Given the description of an element on the screen output the (x, y) to click on. 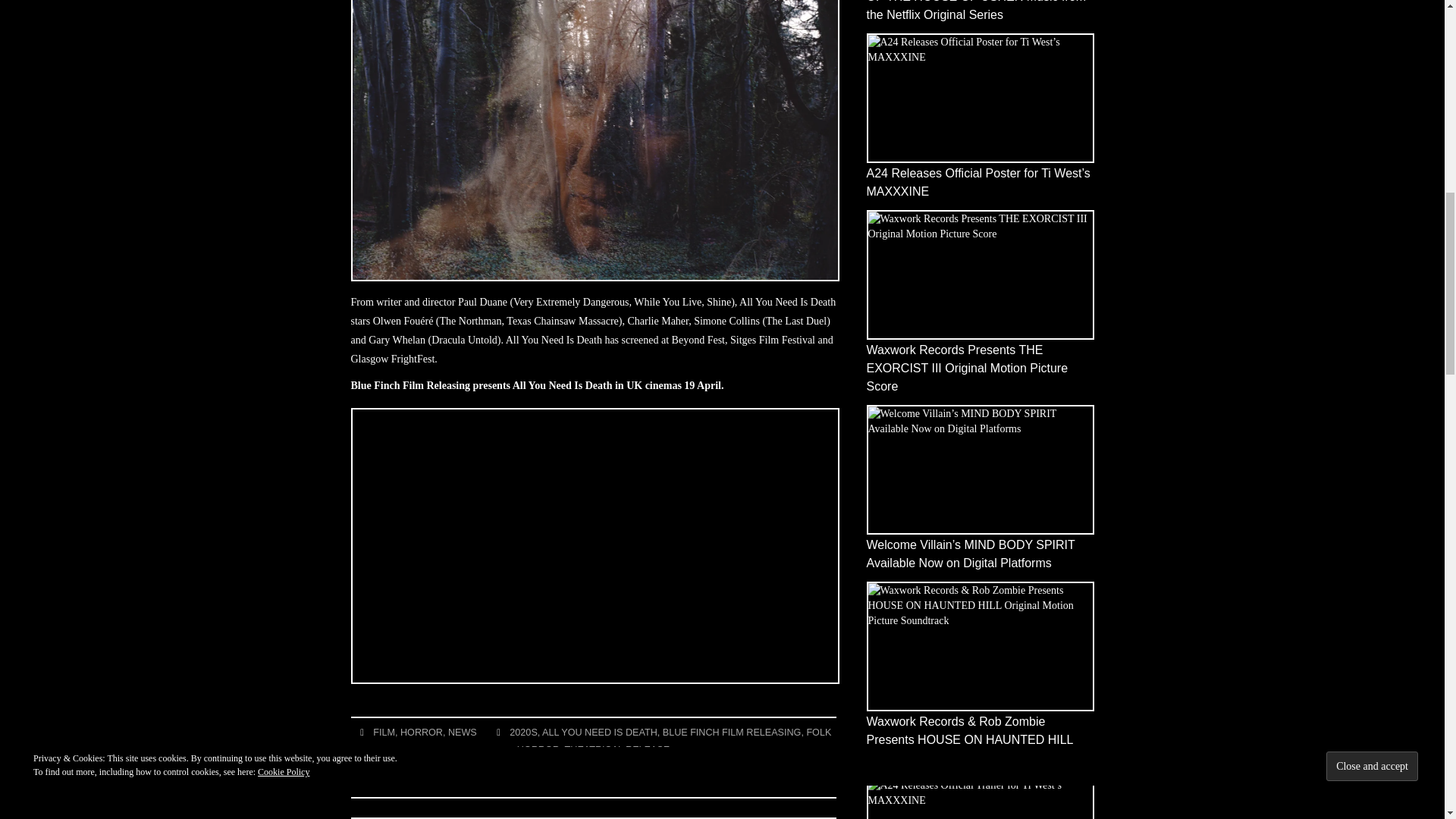
FILM (383, 732)
BLUE FINCH FILM RELEASING (732, 732)
NEWS (462, 732)
THEATRICAL RELEASE (616, 749)
FOLK HORROR (673, 741)
HORROR (421, 732)
ALL YOU NEED IS DEATH (599, 732)
2020S (523, 732)
